Given the description of an element on the screen output the (x, y) to click on. 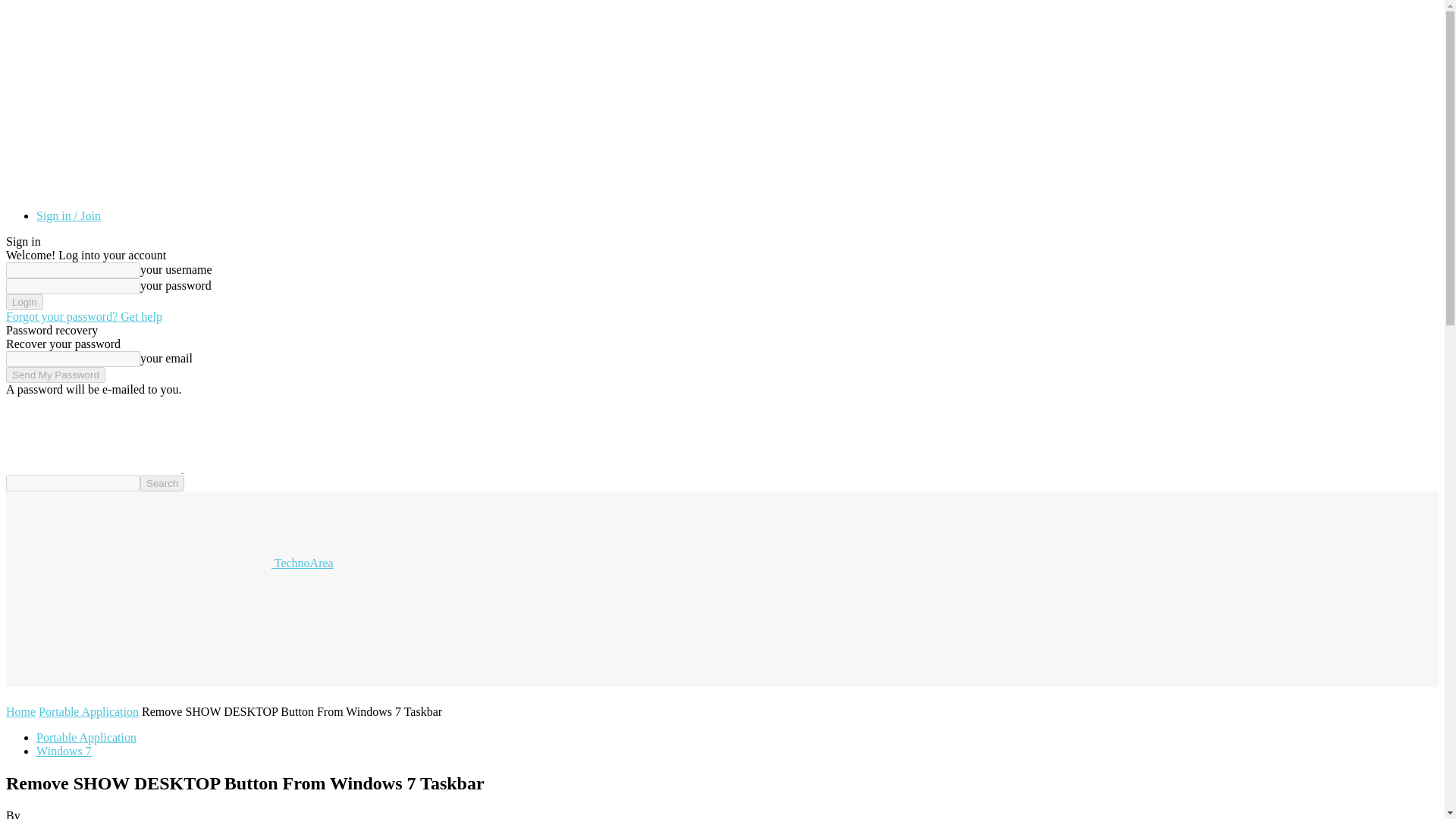
Portable Application (86, 737)
Portable Application (88, 711)
Search (161, 483)
TechnoArea (169, 562)
Send My Password (54, 374)
Forgot your password? Get help (83, 316)
Login (24, 302)
View all posts in Portable Application (88, 711)
Search (161, 483)
Windows 7 (63, 750)
